Given the description of an element on the screen output the (x, y) to click on. 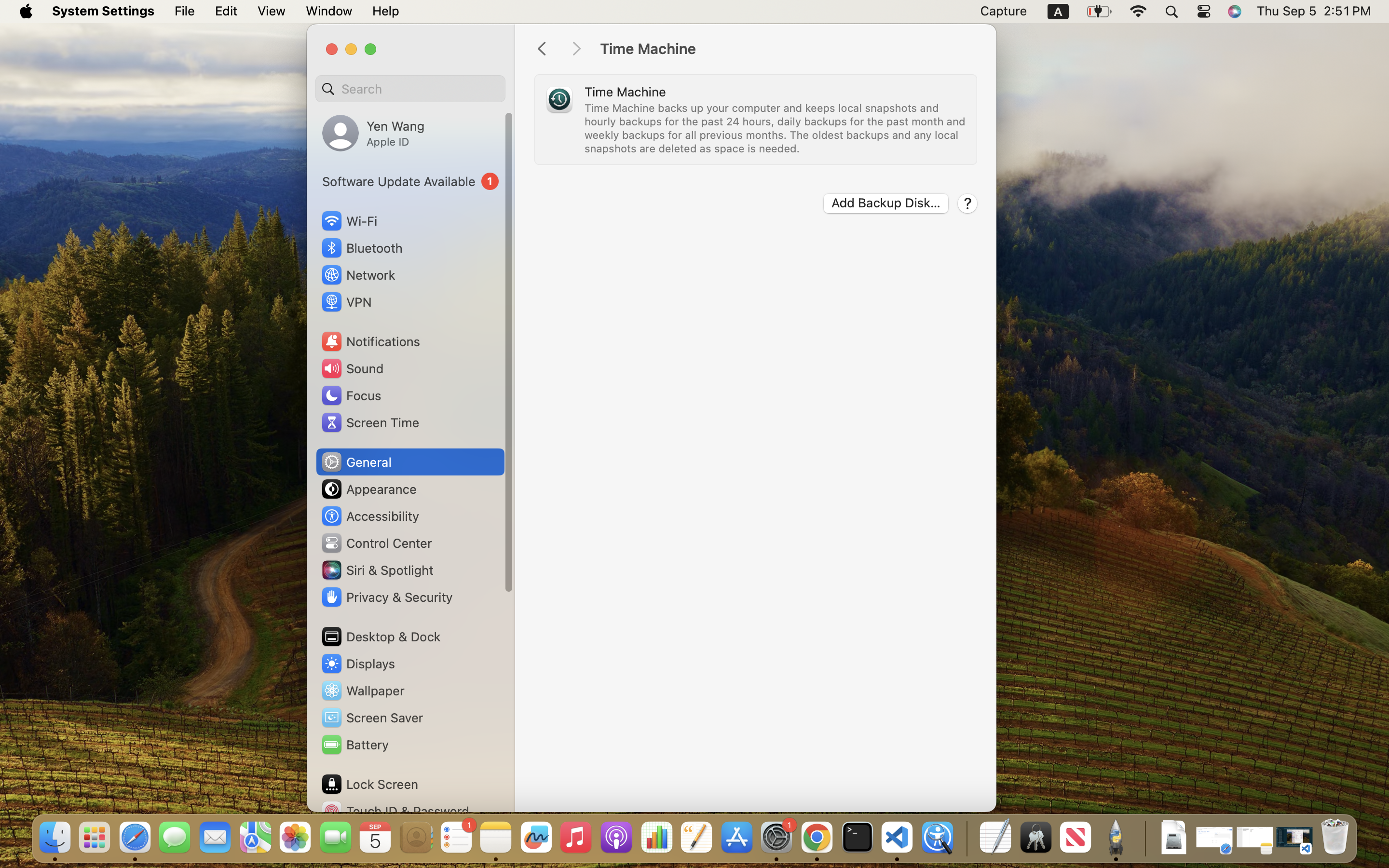
Screen Saver Element type: AXStaticText (371, 717)
Focus Element type: AXStaticText (350, 394)
Lock Screen Element type: AXStaticText (369, 783)
1 Element type: AXStaticText (410, 180)
Bluetooth Element type: AXStaticText (361, 247)
